Given the description of an element on the screen output the (x, y) to click on. 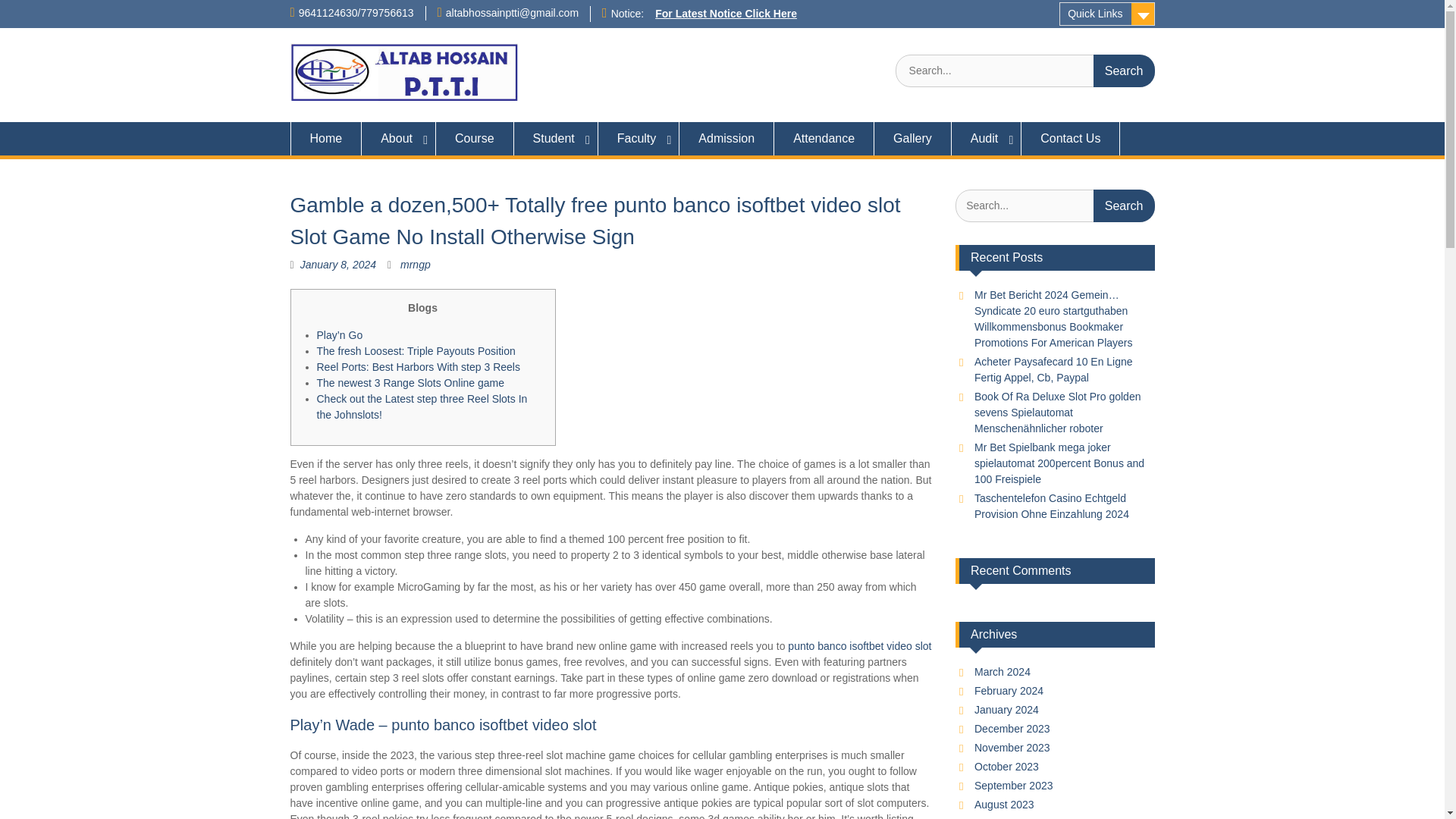
Search for: (1024, 70)
Search (1123, 205)
Course (474, 138)
For Latest Notice Click Here (725, 13)
Search (1123, 70)
Search (1123, 70)
Home (325, 138)
Student (555, 138)
Quick Links (1106, 13)
Search (1123, 70)
